Given the description of an element on the screen output the (x, y) to click on. 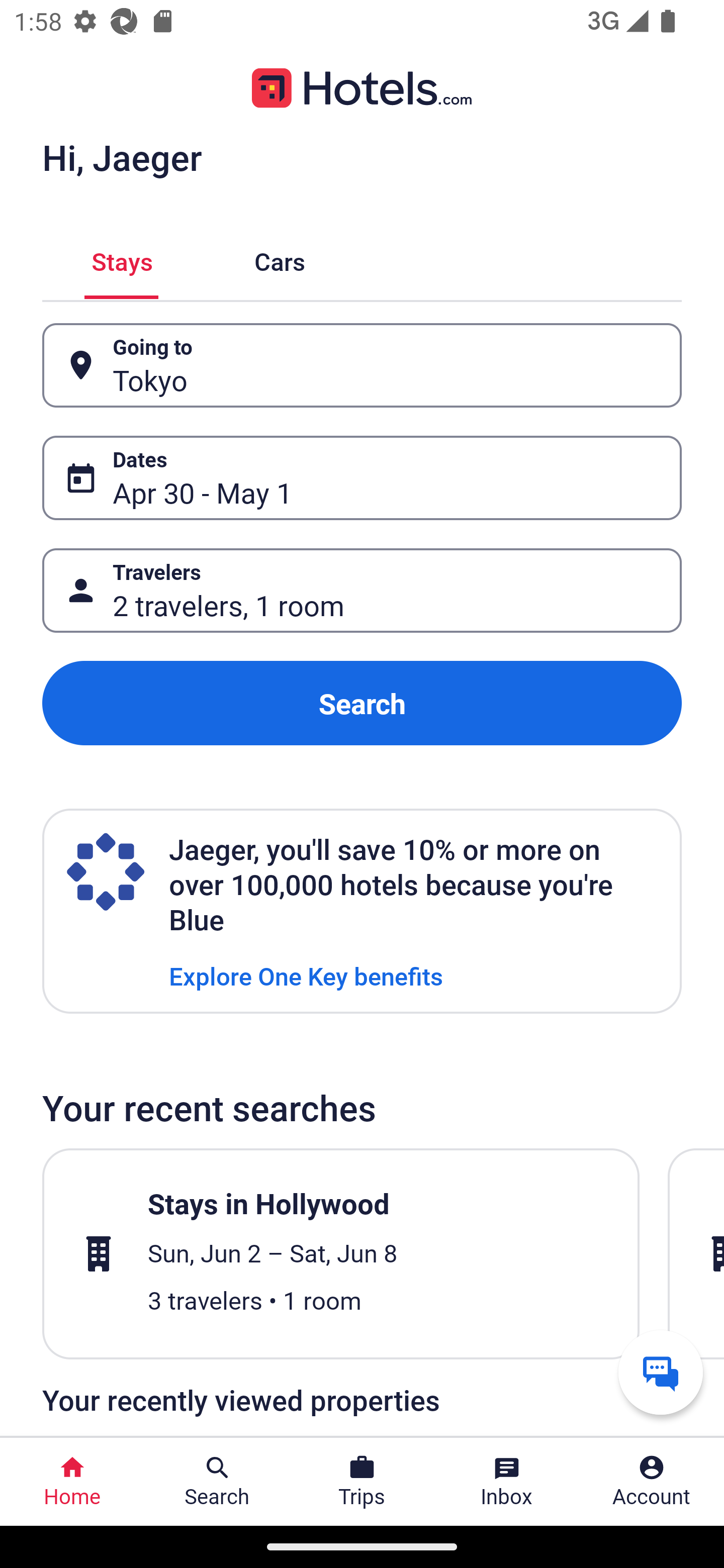
Hi, Jaeger (121, 156)
Cars (279, 259)
Going to Button Tokyo (361, 365)
Dates Button Apr 30 - May 1 (361, 477)
Travelers Button 2 travelers, 1 room (361, 590)
Search (361, 702)
Get help from a virtual agent (660, 1371)
Search Search Button (216, 1481)
Trips Trips Button (361, 1481)
Inbox Inbox Button (506, 1481)
Account Profile. Button (651, 1481)
